Given the description of an element on the screen output the (x, y) to click on. 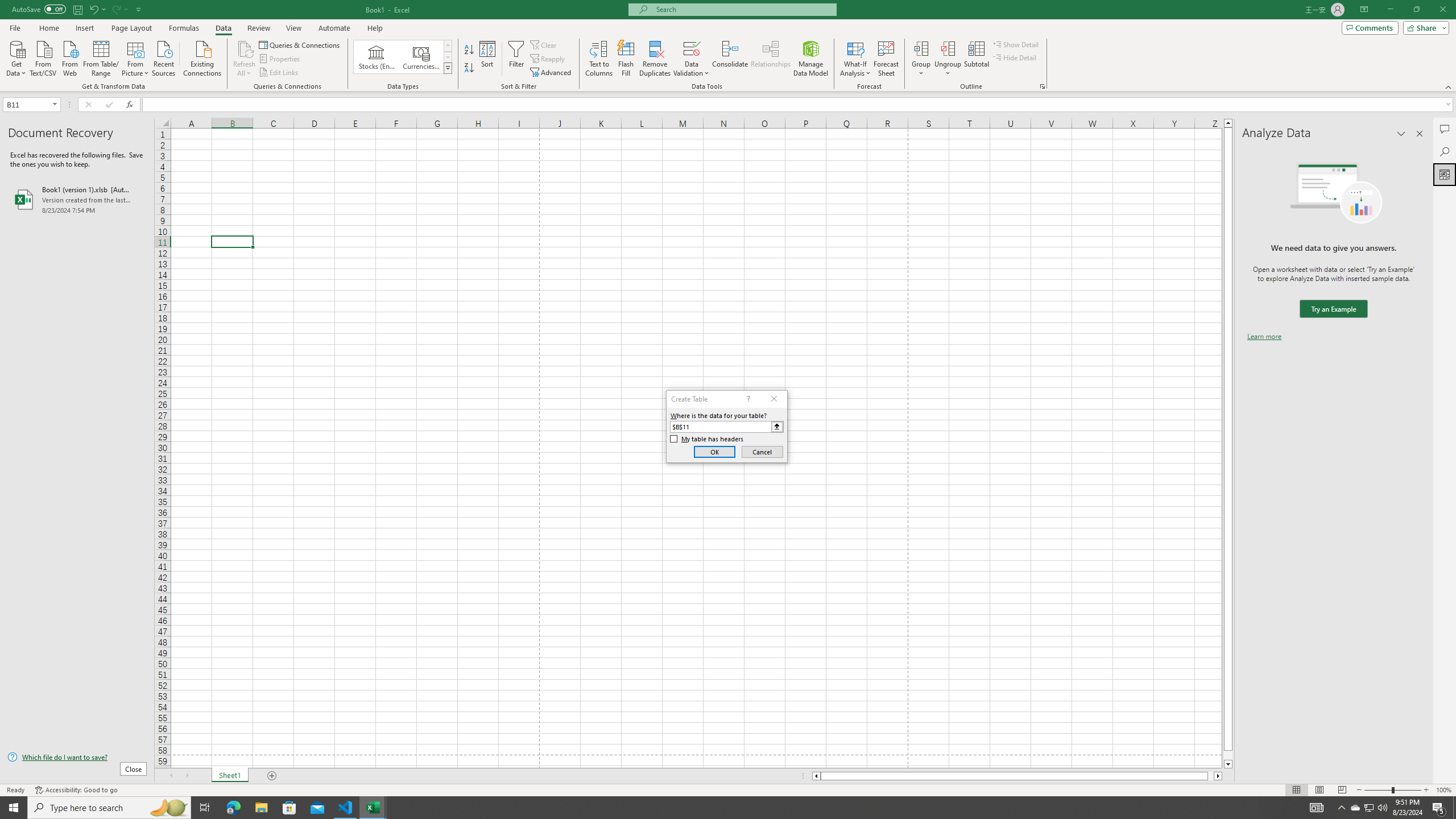
We need data to give you answers. Try an Example (1333, 308)
From Picture (135, 57)
Manage Data Model (810, 58)
Text to Columns... (598, 58)
Sort... (487, 58)
